Given the description of an element on the screen output the (x, y) to click on. 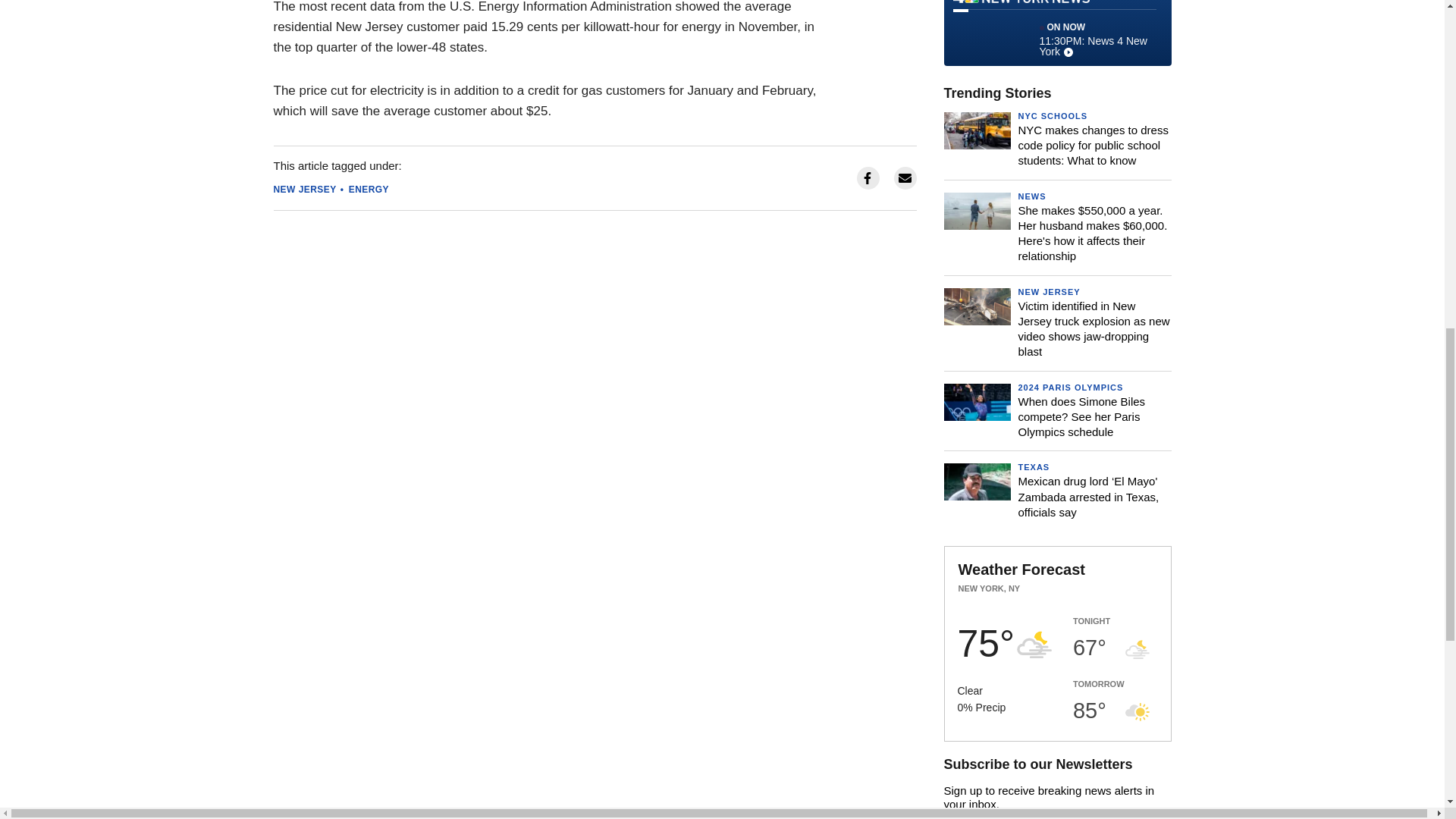
NEW JERSEY (304, 189)
ENERGY (368, 189)
NYC SCHOOLS (1052, 115)
NEWS (1031, 195)
